Given the description of an element on the screen output the (x, y) to click on. 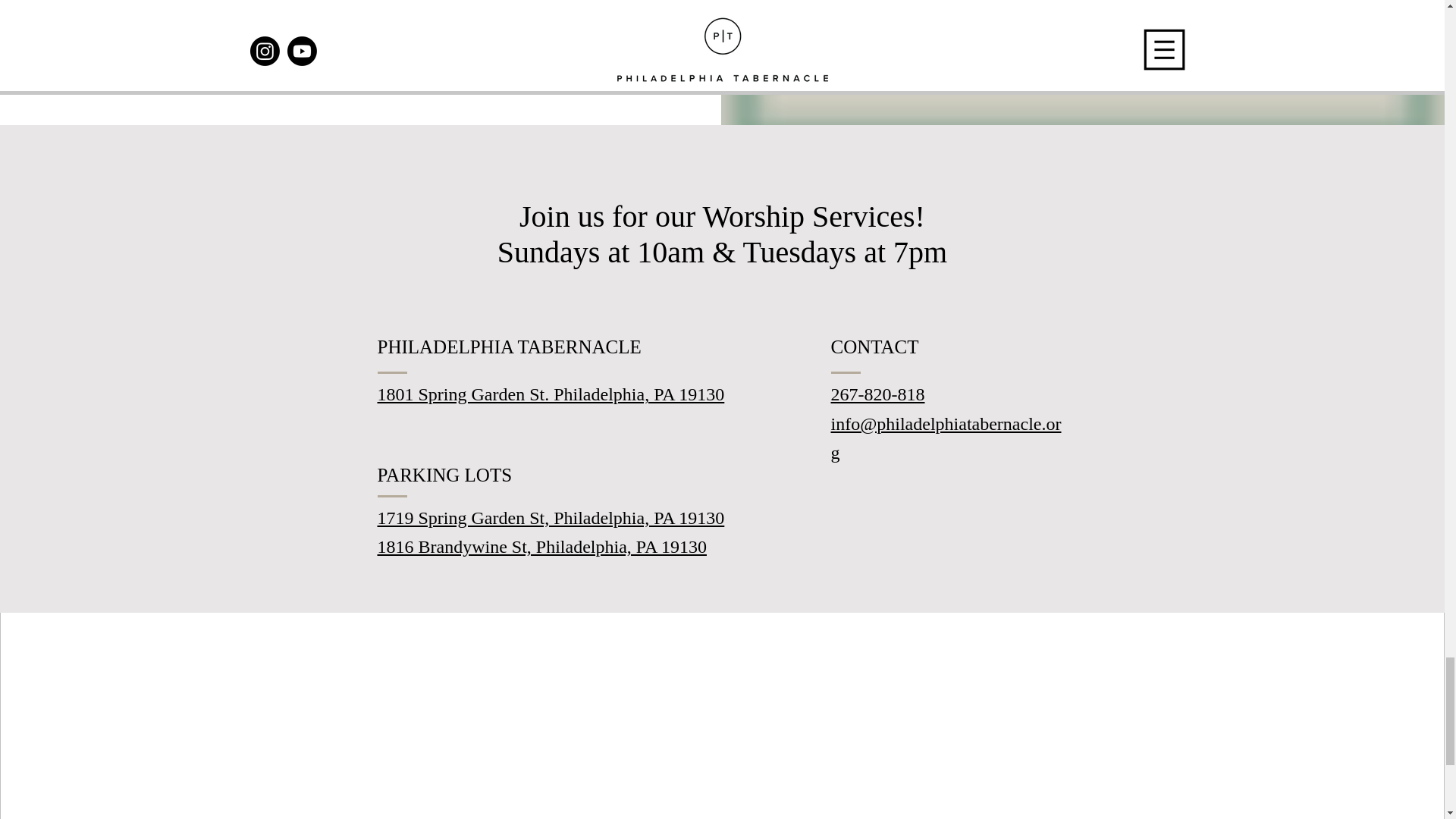
1816 Brandywine St, Philadelphia, PA 19130 (541, 546)
1801 Spring Garden St. Philadelphia, PA 19130 (551, 394)
1719 Spring Garden St, Philadelphia, PA 19130 (551, 517)
SIGN UP (360, 32)
267-820-818 (877, 394)
